Given the description of an element on the screen output the (x, y) to click on. 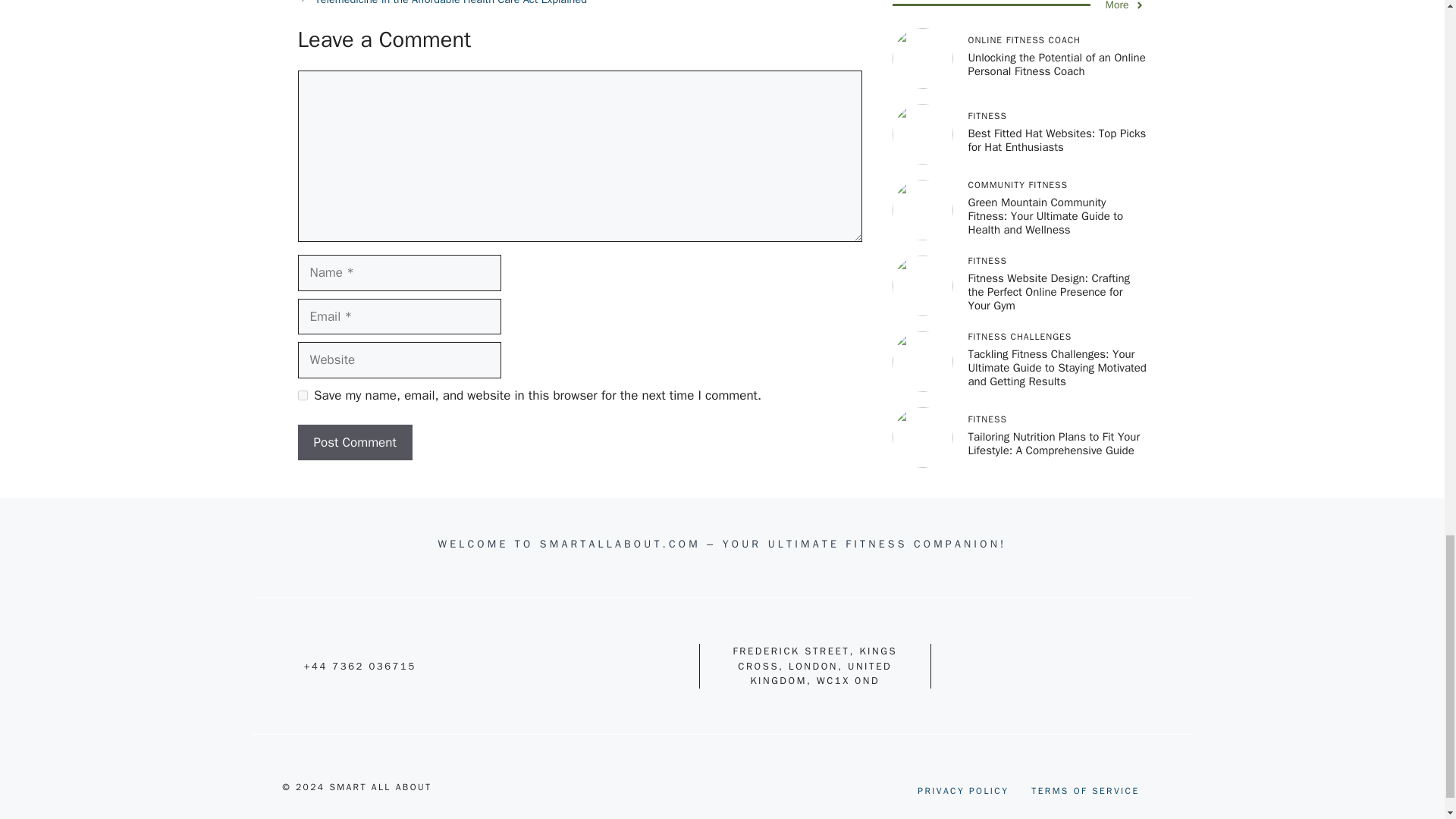
TERMS OF SERVICE (1084, 790)
Telemedicine in the Affordable Health Care Act Explained (450, 2)
Post Comment (354, 443)
PRIVACY POLICY (963, 790)
yes (302, 395)
Post Comment (354, 443)
